Given the description of an element on the screen output the (x, y) to click on. 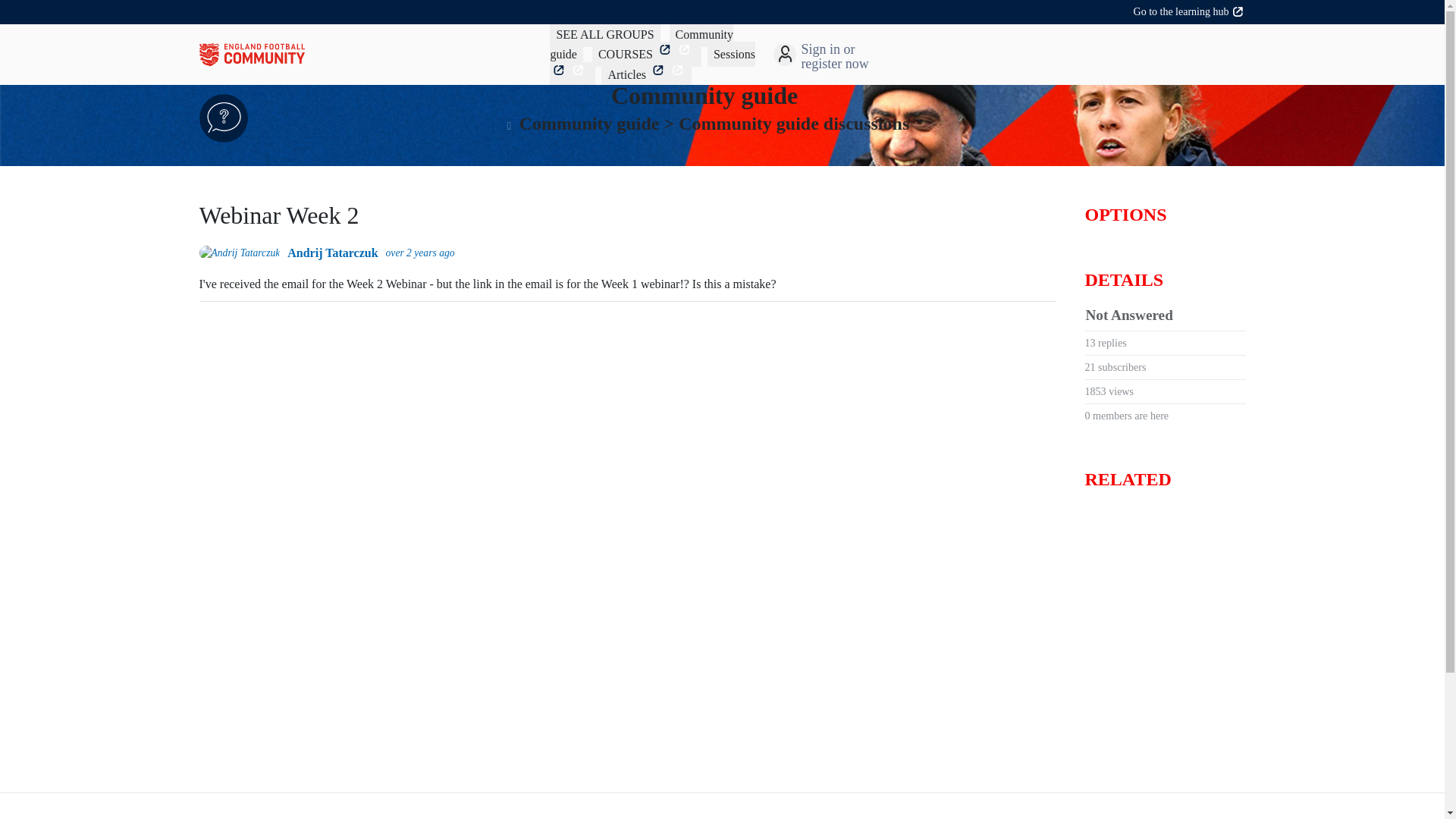
Articles (646, 74)
Sign in or register now (849, 56)
Go to the learning hub (1190, 11)
Community guide discussions (793, 123)
COURSES (646, 53)
Home (374, 54)
Community guide (704, 94)
Sign in or register now (785, 55)
Community guide (641, 43)
User (785, 55)
Sessions (652, 63)
Sign in or register now (849, 56)
SEE ALL GROUPS (604, 33)
